Given the description of an element on the screen output the (x, y) to click on. 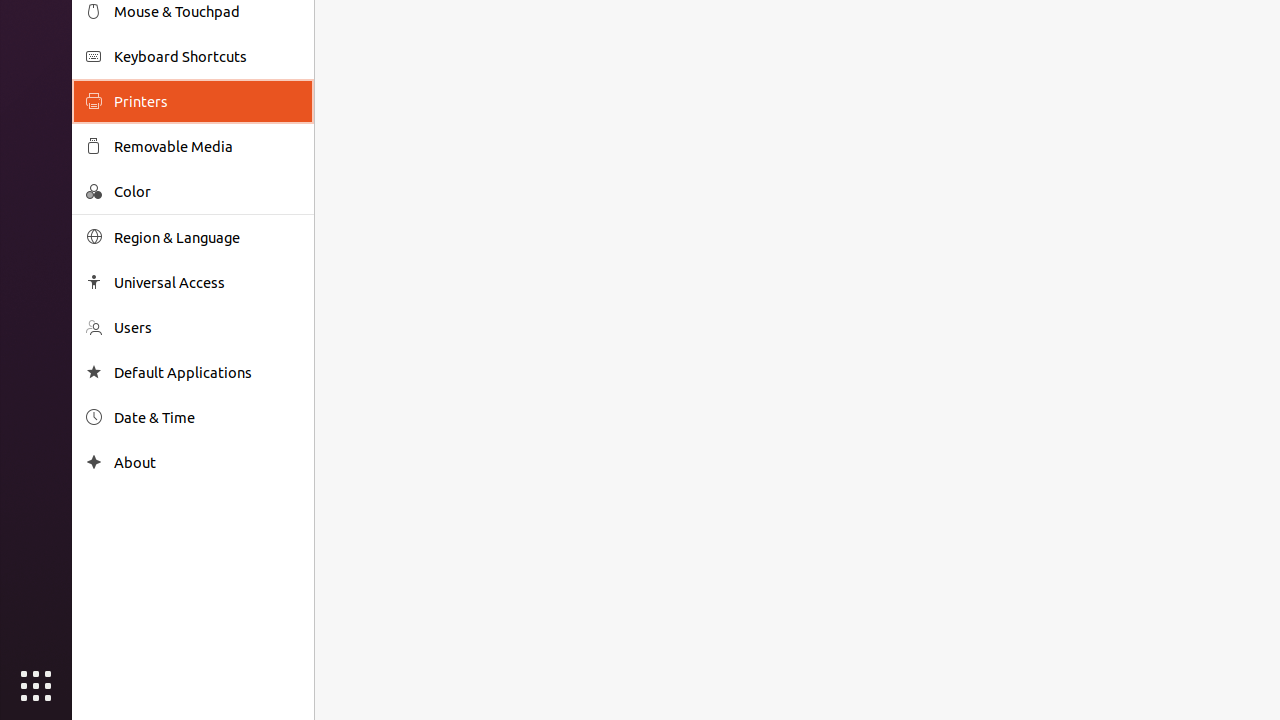
Date & Time Element type: label (207, 417)
Users Element type: label (207, 327)
Default Applications Element type: label (207, 372)
Color Element type: label (207, 191)
